Given the description of an element on the screen output the (x, y) to click on. 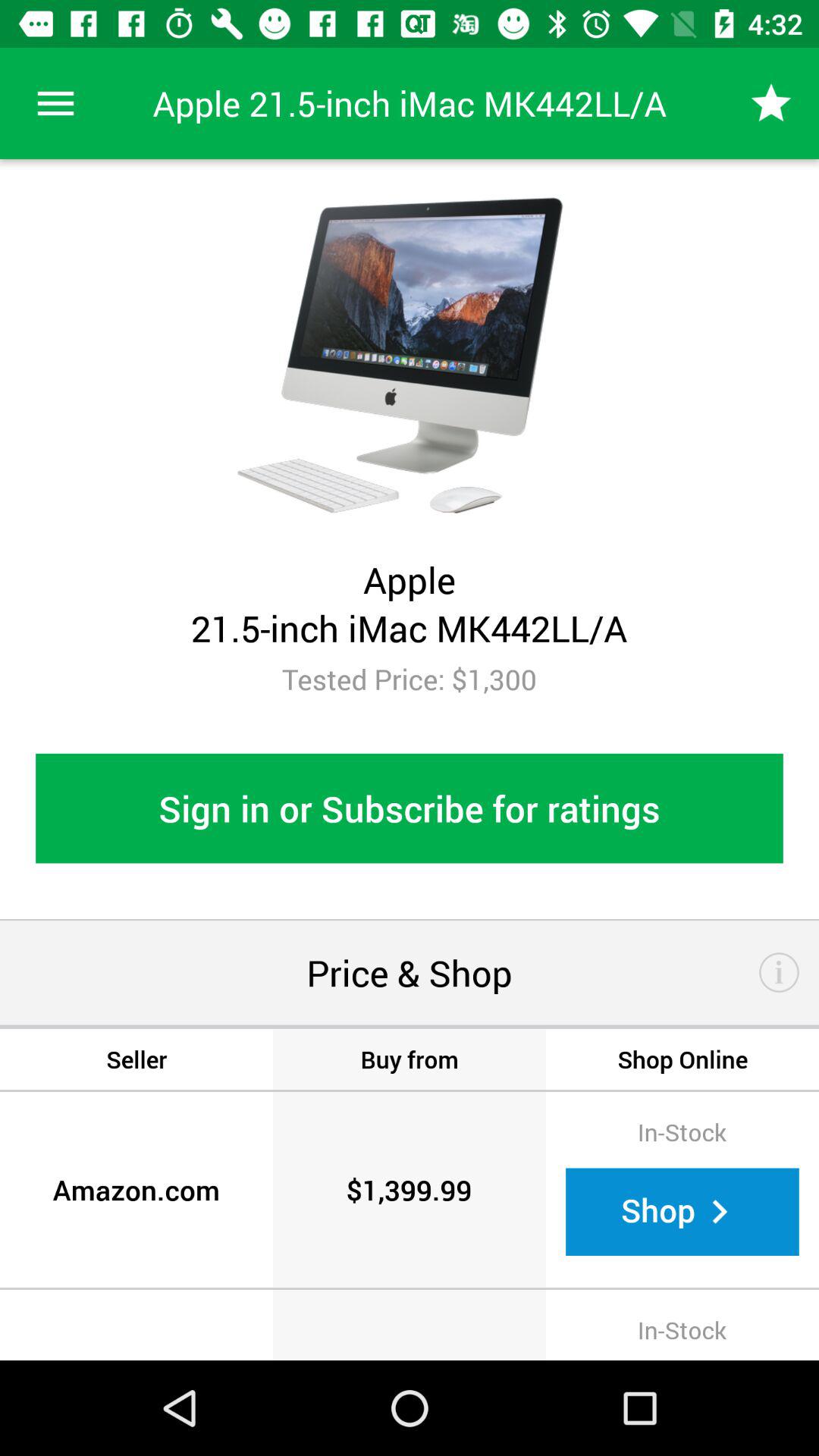
details on item (779, 972)
